Given the description of an element on the screen output the (x, y) to click on. 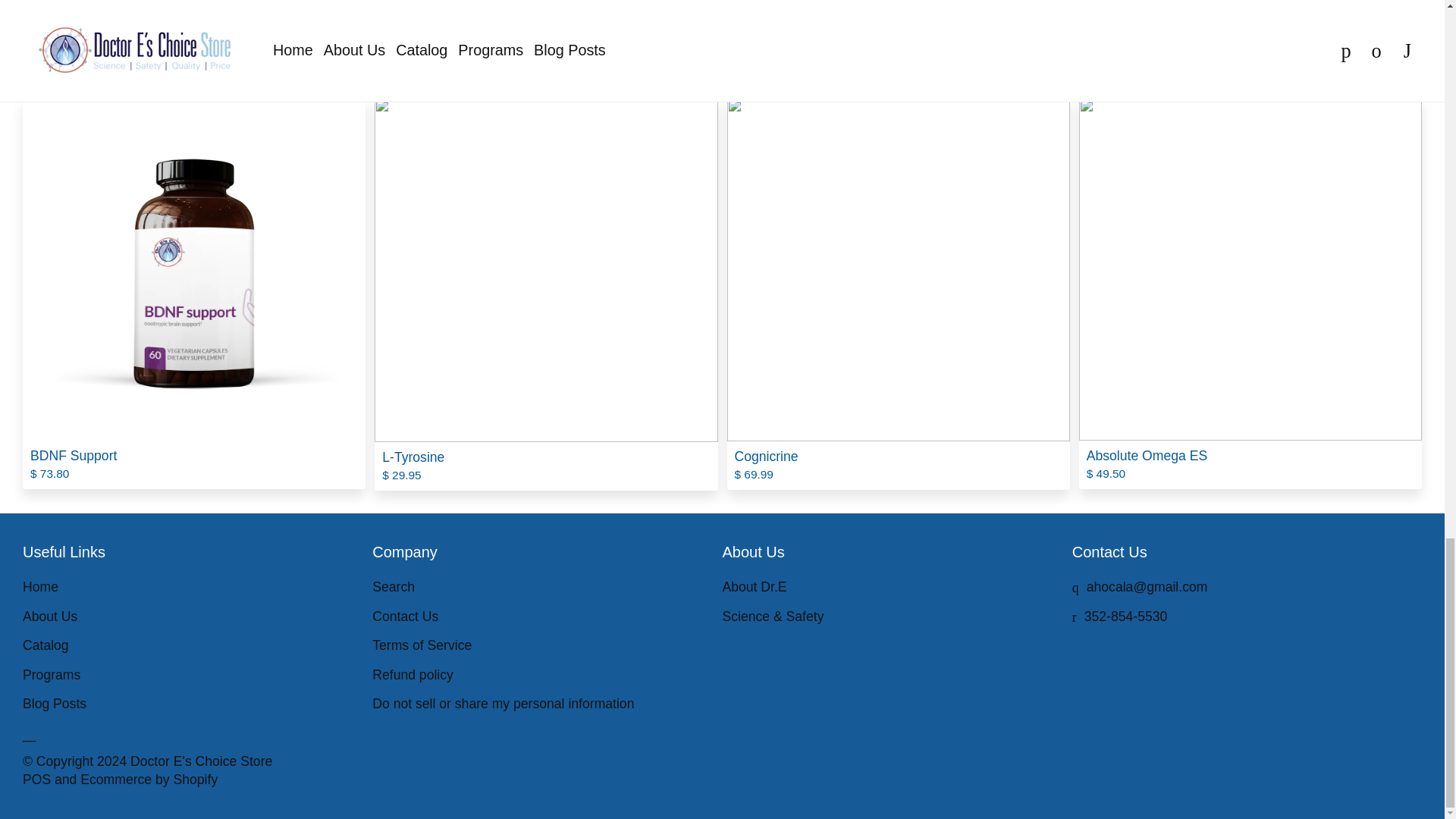
Home (40, 586)
About Us (50, 616)
Search (393, 586)
Blog Posts (54, 703)
Contact Us (405, 616)
Programs (51, 674)
Catalog (45, 645)
